Given the description of an element on the screen output the (x, y) to click on. 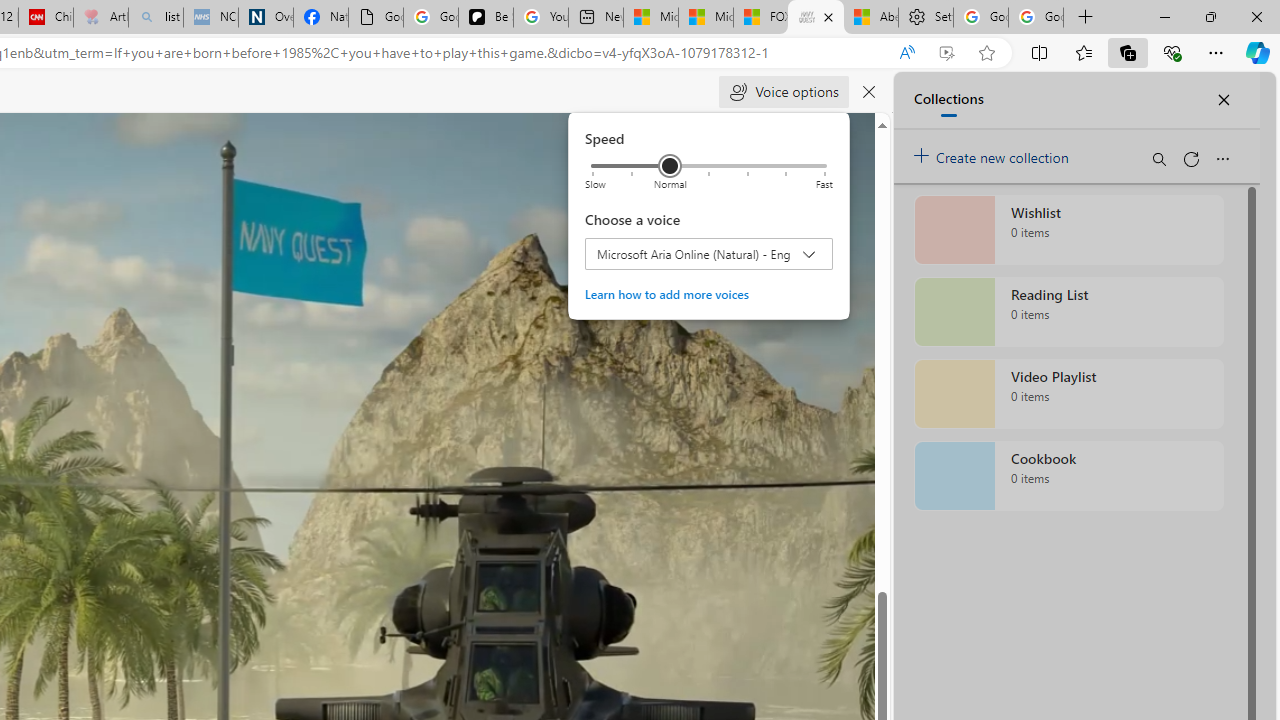
Close read aloud (906, 53)
FOX News - MSN (760, 17)
Enhance video (946, 53)
Aberdeen, Hong Kong SAR hourly forecast | Microsoft Weather (870, 17)
Google Analytics Opt-out Browser Add-on Download Page (376, 17)
